Given the description of an element on the screen output the (x, y) to click on. 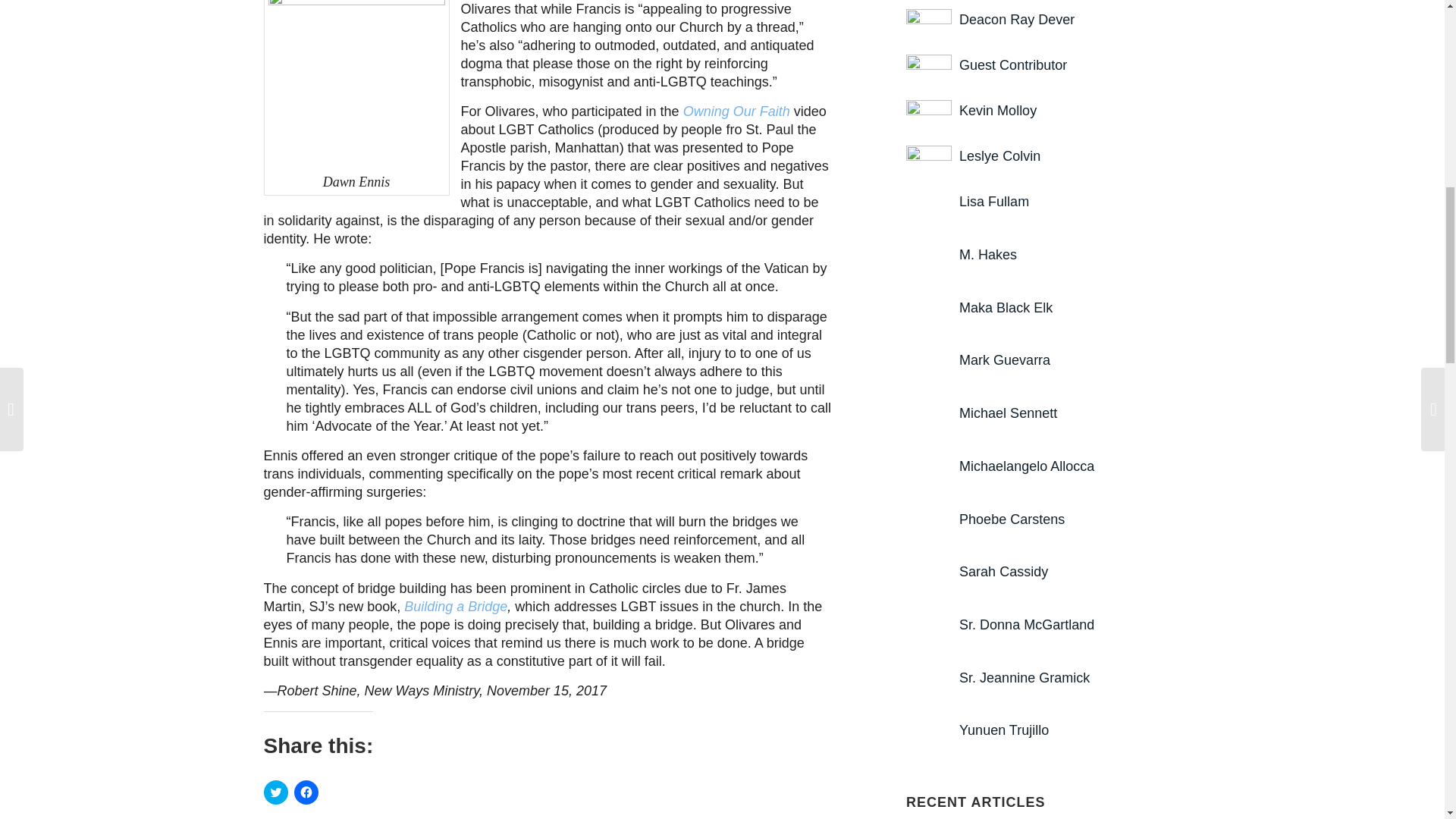
Owning Our Faith (736, 111)
Click to share on Twitter (275, 792)
Building a Bridge (455, 606)
Click to share on Facebook (306, 792)
